Given the description of an element on the screen output the (x, y) to click on. 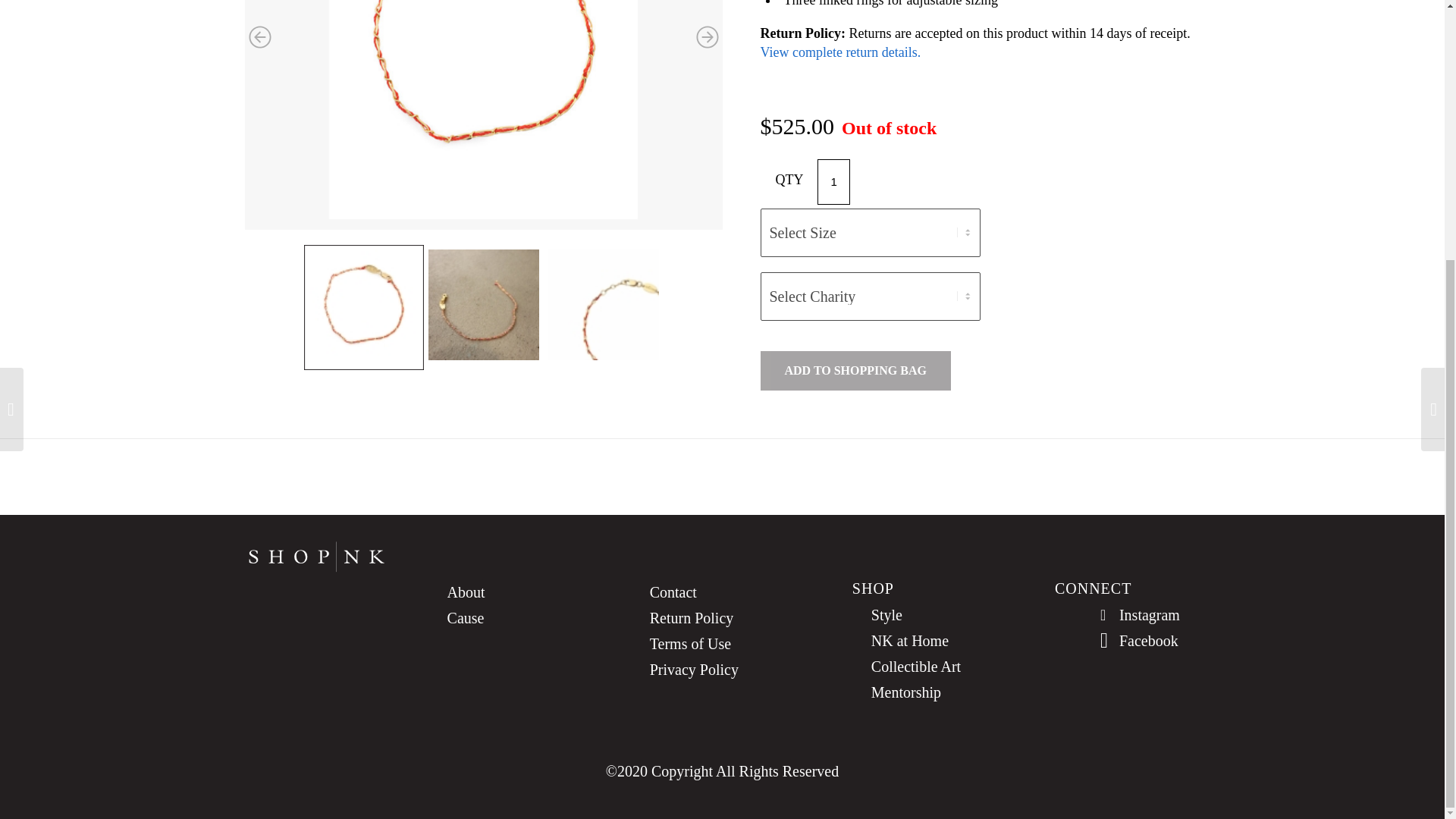
Return Policy (721, 618)
View complete return details. (840, 52)
Next (707, 36)
Contact (721, 592)
Terms of Use (721, 644)
ADD TO SHOPPING BAG (855, 370)
Cause (519, 618)
Previous (259, 36)
About (519, 592)
